Given the description of an element on the screen output the (x, y) to click on. 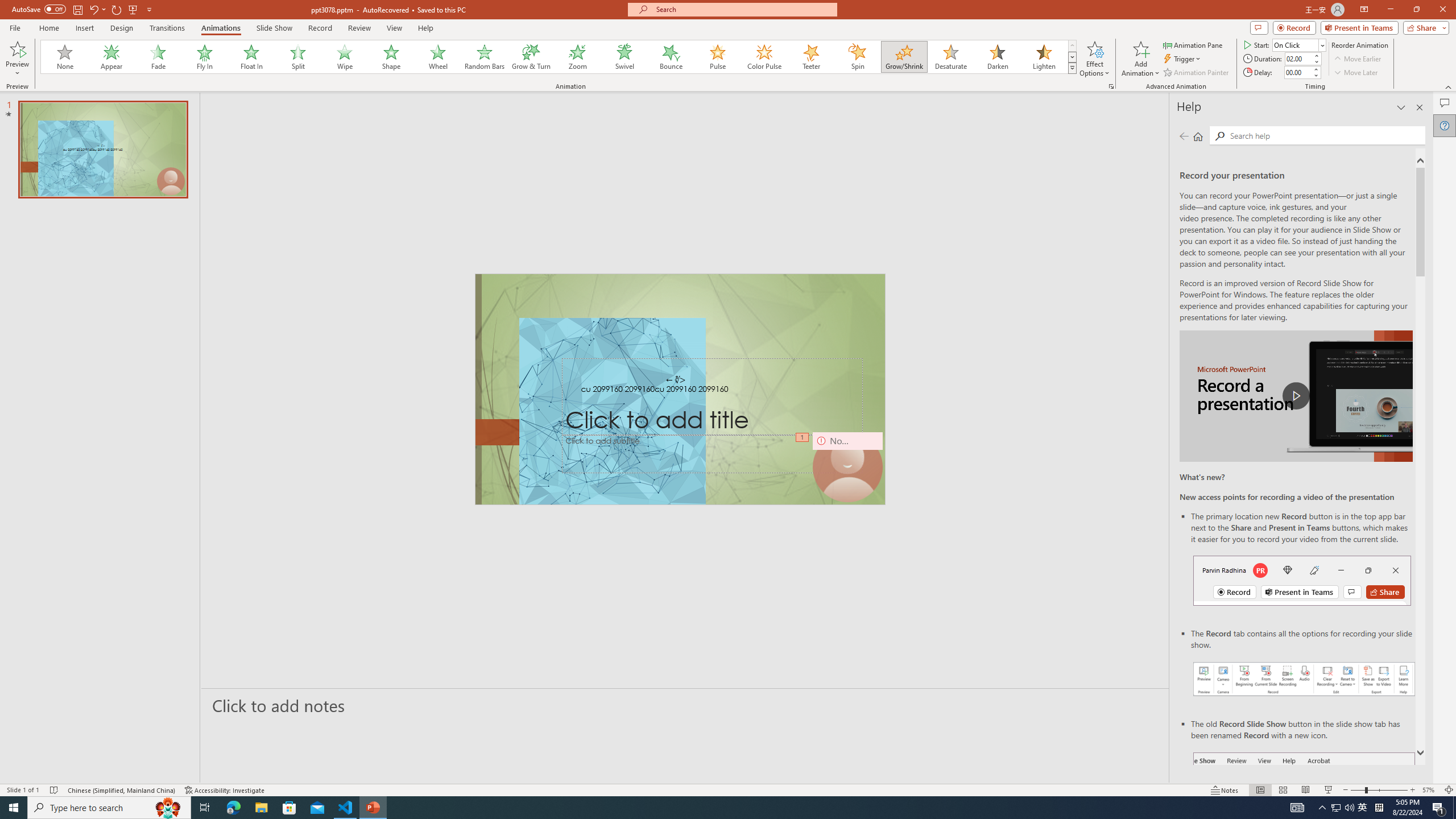
Animation, sequence 1, on Camera 9 (802, 437)
Record button in top bar (1301, 580)
Color Pulse (764, 56)
Lighten (1043, 56)
